Given the description of an element on the screen output the (x, y) to click on. 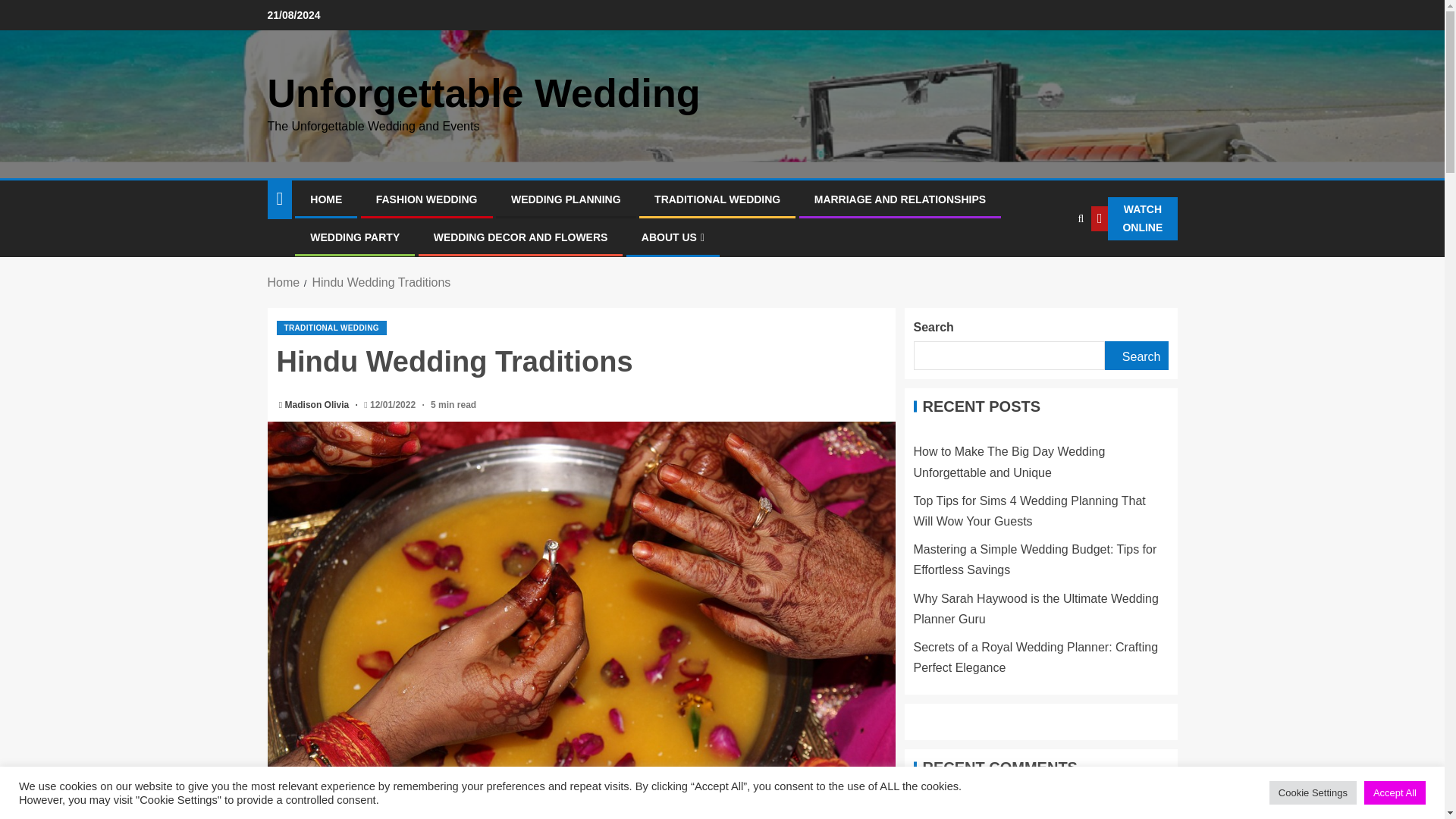
WATCH ONLINE (1133, 218)
Search (1048, 265)
HOME (326, 199)
FASHION WEDDING (426, 199)
WEDDING DECOR AND FLOWERS (520, 236)
Hindu Wedding Traditions (380, 282)
TRADITIONAL WEDDING (716, 199)
ABOUT US (673, 236)
WEDDING PLANNING (566, 199)
